Given the description of an element on the screen output the (x, y) to click on. 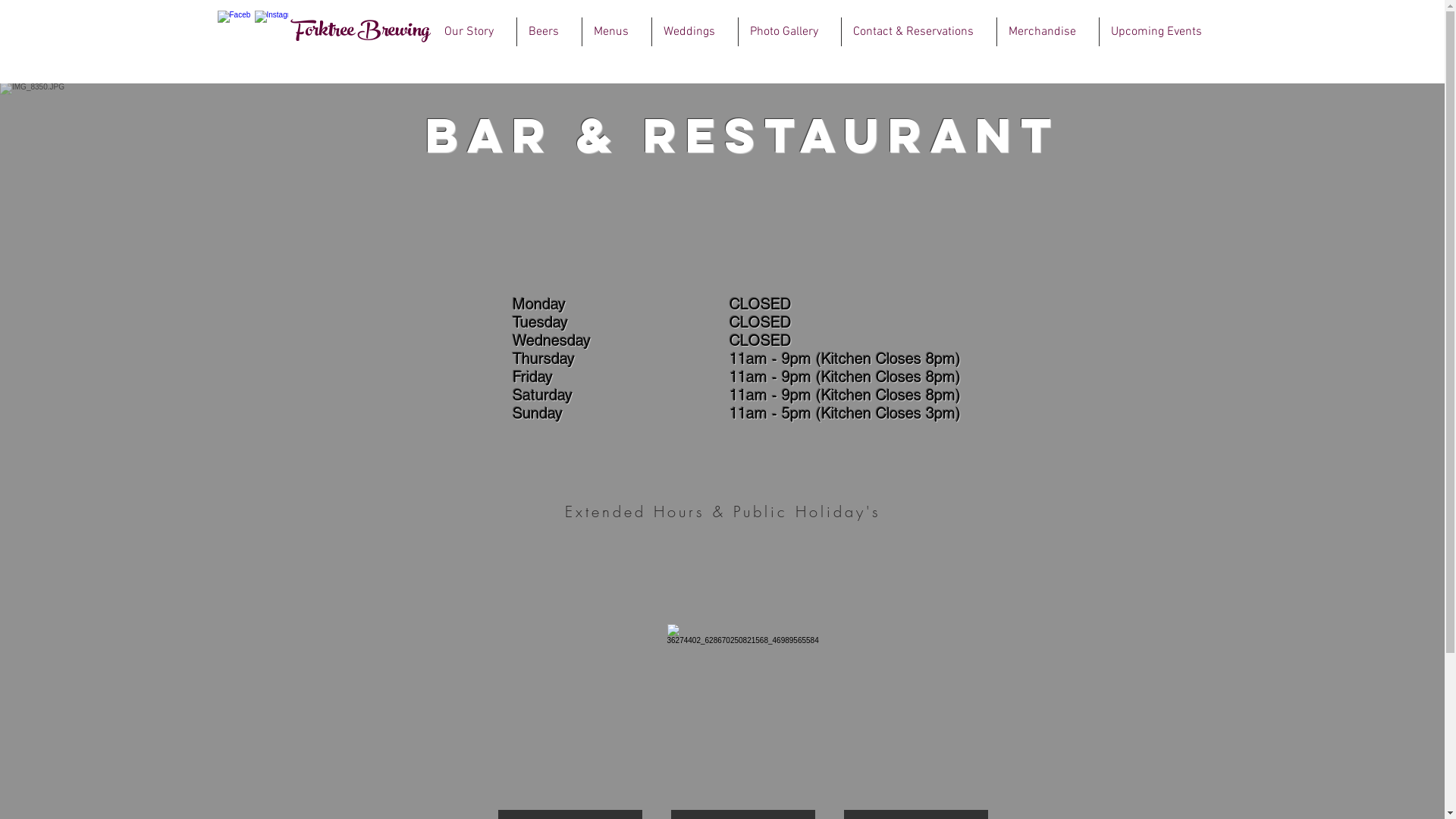
Menus Element type: text (616, 31)
Weddings Element type: text (694, 31)
Beers Element type: text (549, 31)
Extended Hours & Public Holiday's Element type: text (723, 511)
Our Story Element type: text (473, 31)
Forktree Brewing Element type: text (360, 31)
Upcoming Events Element type: text (1161, 31)
Merchandise Element type: text (1047, 31)
Contact & Reservations Element type: text (918, 31)
Photo Gallery Element type: text (789, 31)
